Given the description of an element on the screen output the (x, y) to click on. 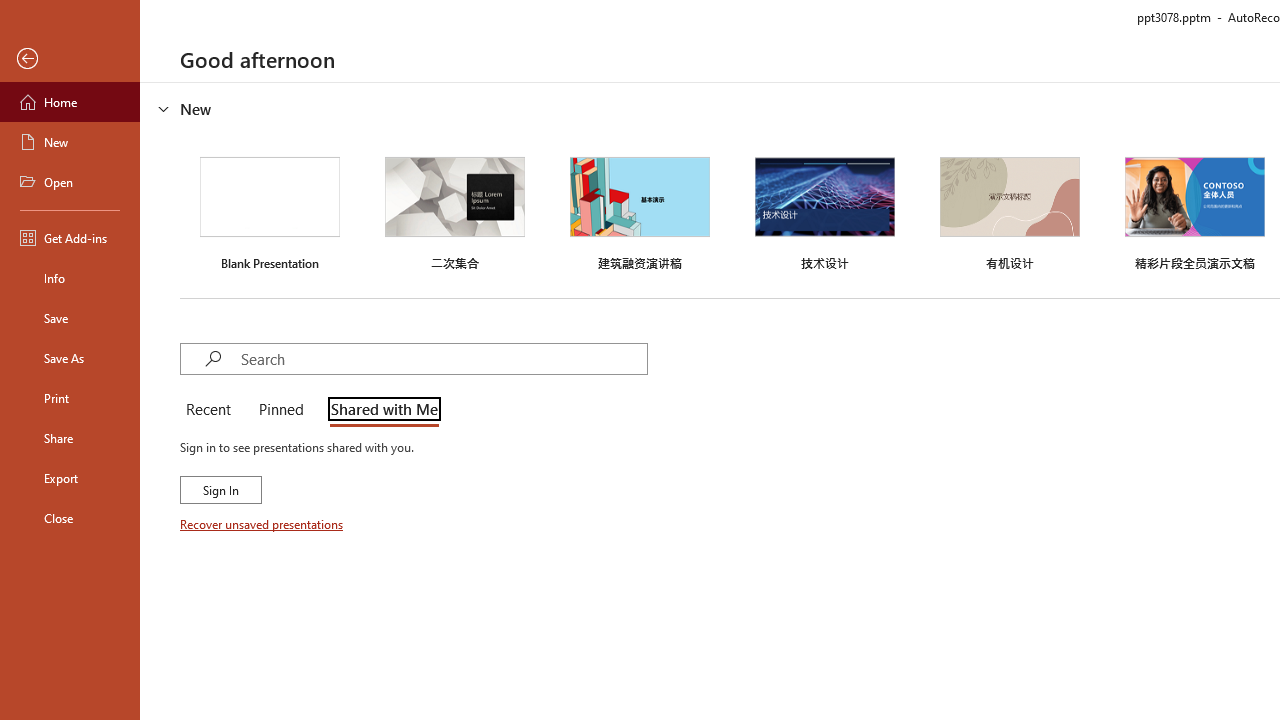
Pinned (280, 410)
New (69, 141)
Print (69, 398)
Export (69, 477)
